Given the description of an element on the screen output the (x, y) to click on. 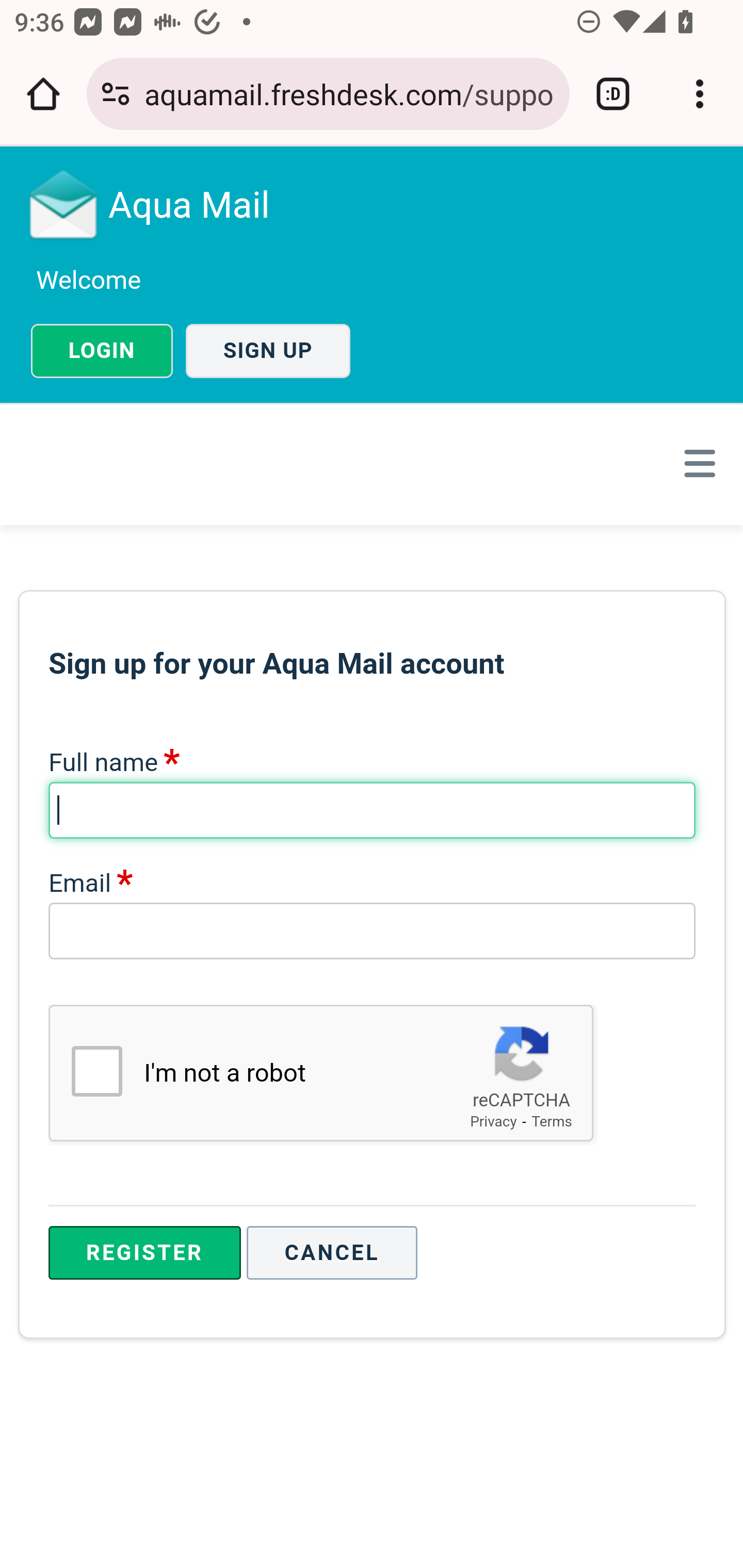
Open the home page (43, 93)
Connection is secure (115, 93)
Switch or close tabs (612, 93)
Customize and control Google Chrome (699, 93)
aquamail.freshdesk.com/support/signup (349, 92)
Logo (63, 204)
LOGIN (101, 351)
SIGN UP (268, 351)
 (695, 463)
I'm not a robot (95, 1070)
Privacy (493, 1120)
Terms (551, 1120)
Register (144, 1253)
CANCEL (332, 1253)
